Given the description of an element on the screen output the (x, y) to click on. 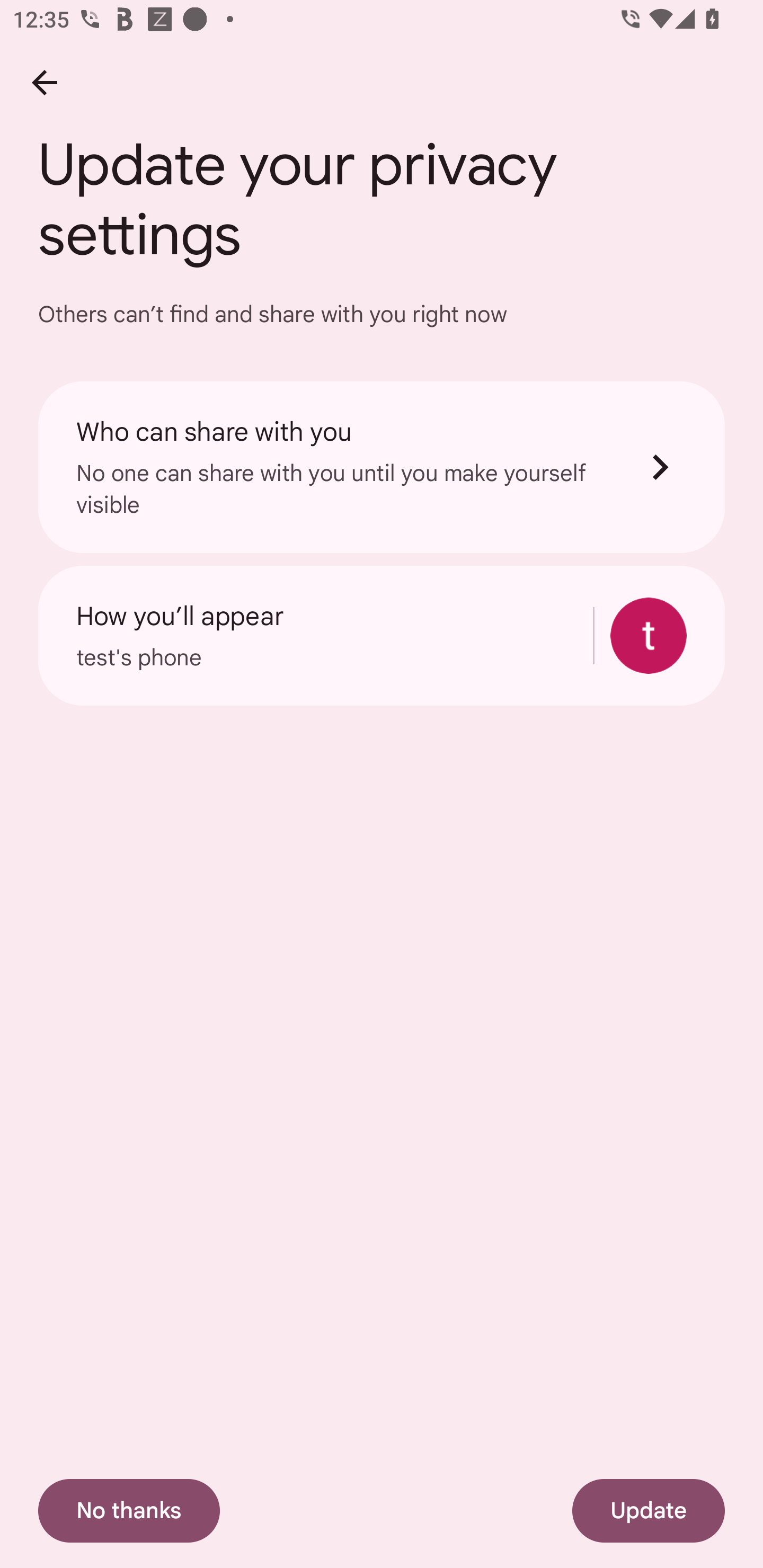
Back (44, 81)
Signed in as testappium002@gmail.com (648, 635)
No thanks (128, 1510)
Update (648, 1510)
